Given the description of an element on the screen output the (x, y) to click on. 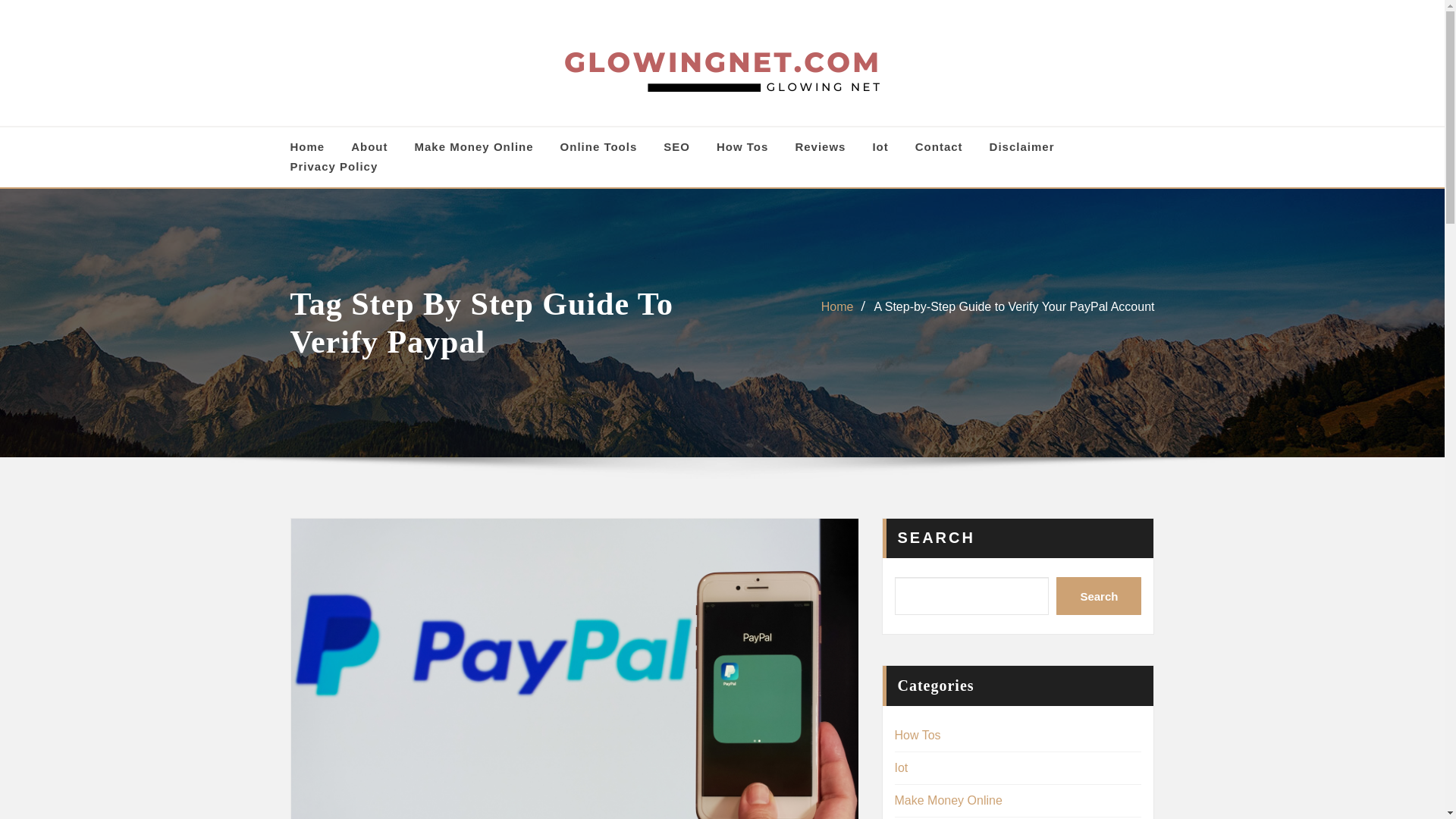
About (368, 147)
Make Money Online (474, 147)
Home (306, 147)
Reviews (819, 147)
SEO (676, 147)
Iot (880, 147)
Iot (901, 767)
Make Money Online (949, 799)
How Tos (917, 735)
Disclaimer (1022, 147)
Online Tools (598, 147)
Privacy Policy (333, 166)
Search (1099, 596)
How Tos (742, 147)
Home (837, 306)
